Given the description of an element on the screen output the (x, y) to click on. 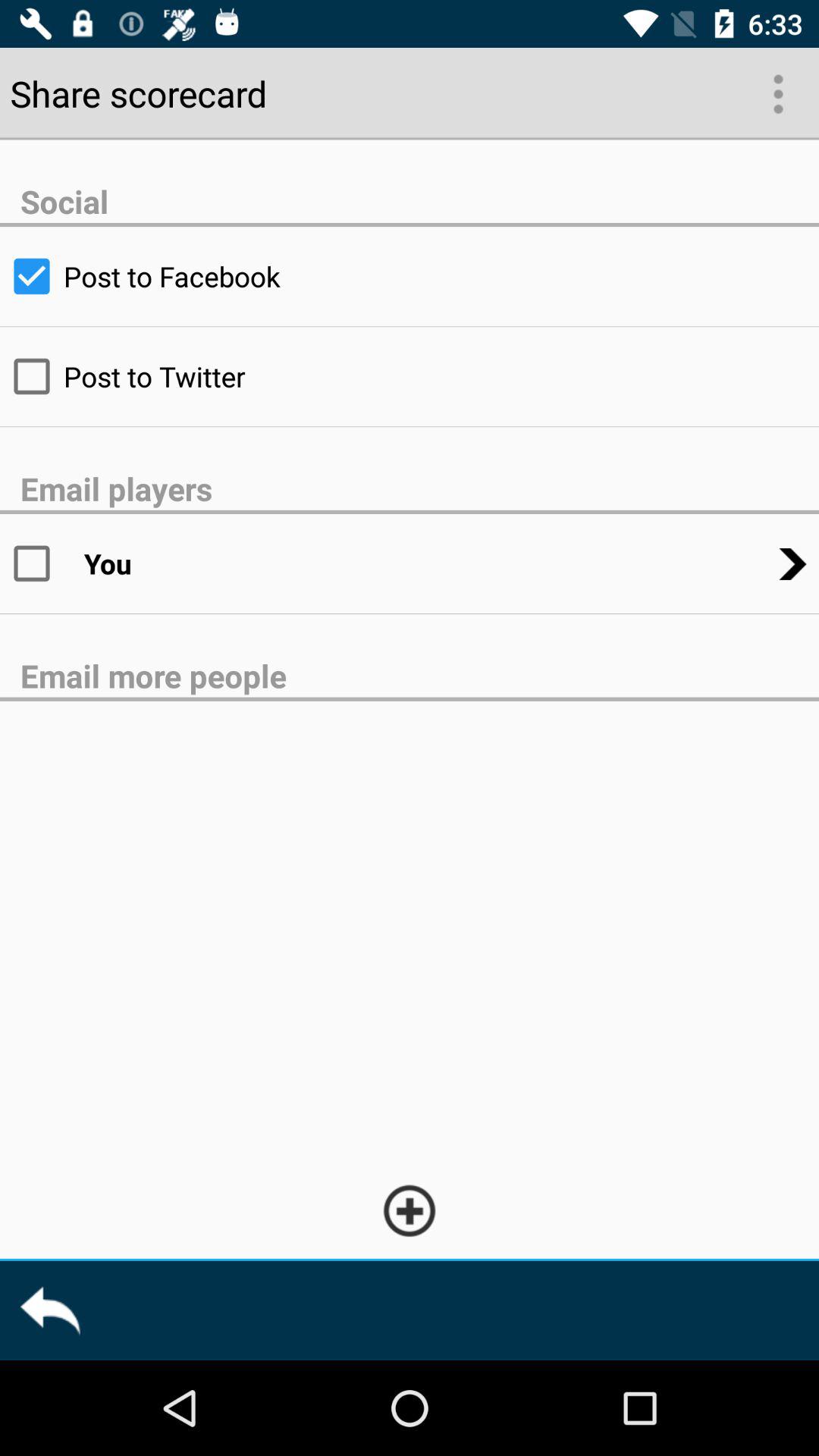
click on arrow at right side of you (792, 564)
click on the more options icon below 633 (776, 92)
